Given the description of an element on the screen output the (x, y) to click on. 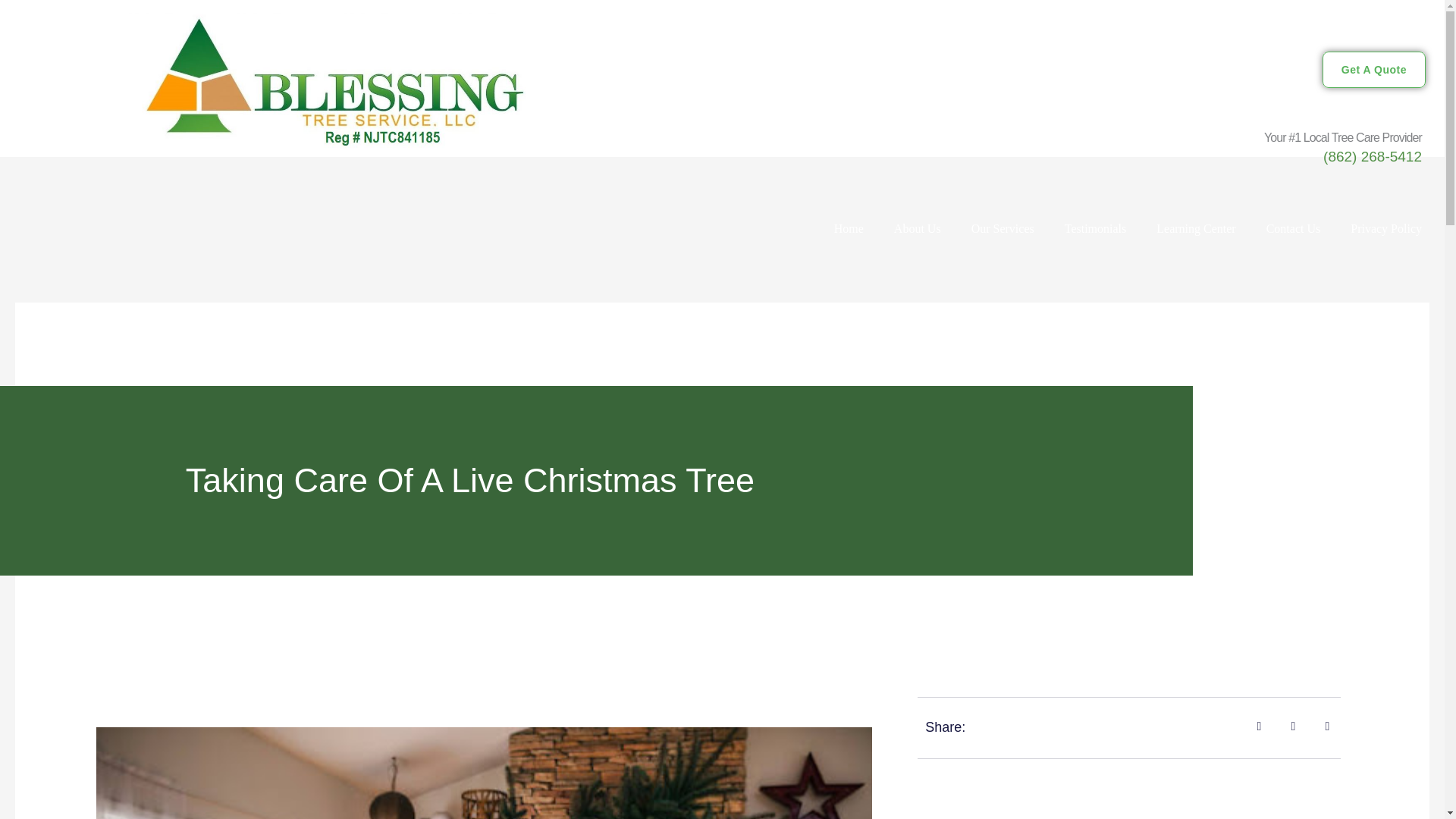
About Us (917, 228)
Learning Center (1195, 228)
Home (848, 228)
Our Services (1002, 228)
Contact Us (1293, 228)
Privacy Policy (1386, 228)
Testimonials (1095, 228)
Get A Quote (1373, 69)
